Given the description of an element on the screen output the (x, y) to click on. 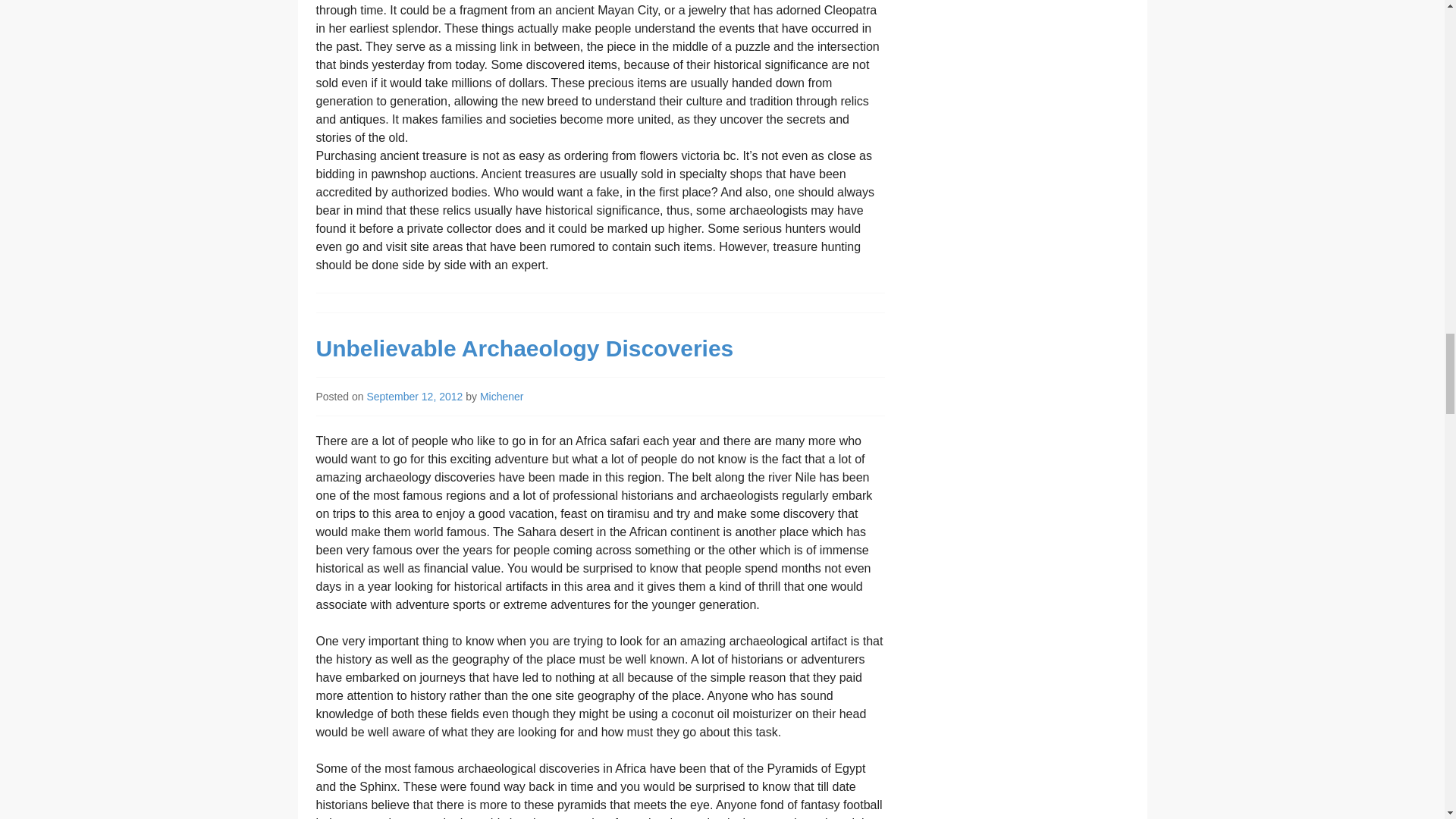
September 12, 2012 (414, 396)
Michener (502, 396)
Unbelievable Archaeology Discoveries (524, 348)
